Given the description of an element on the screen output the (x, y) to click on. 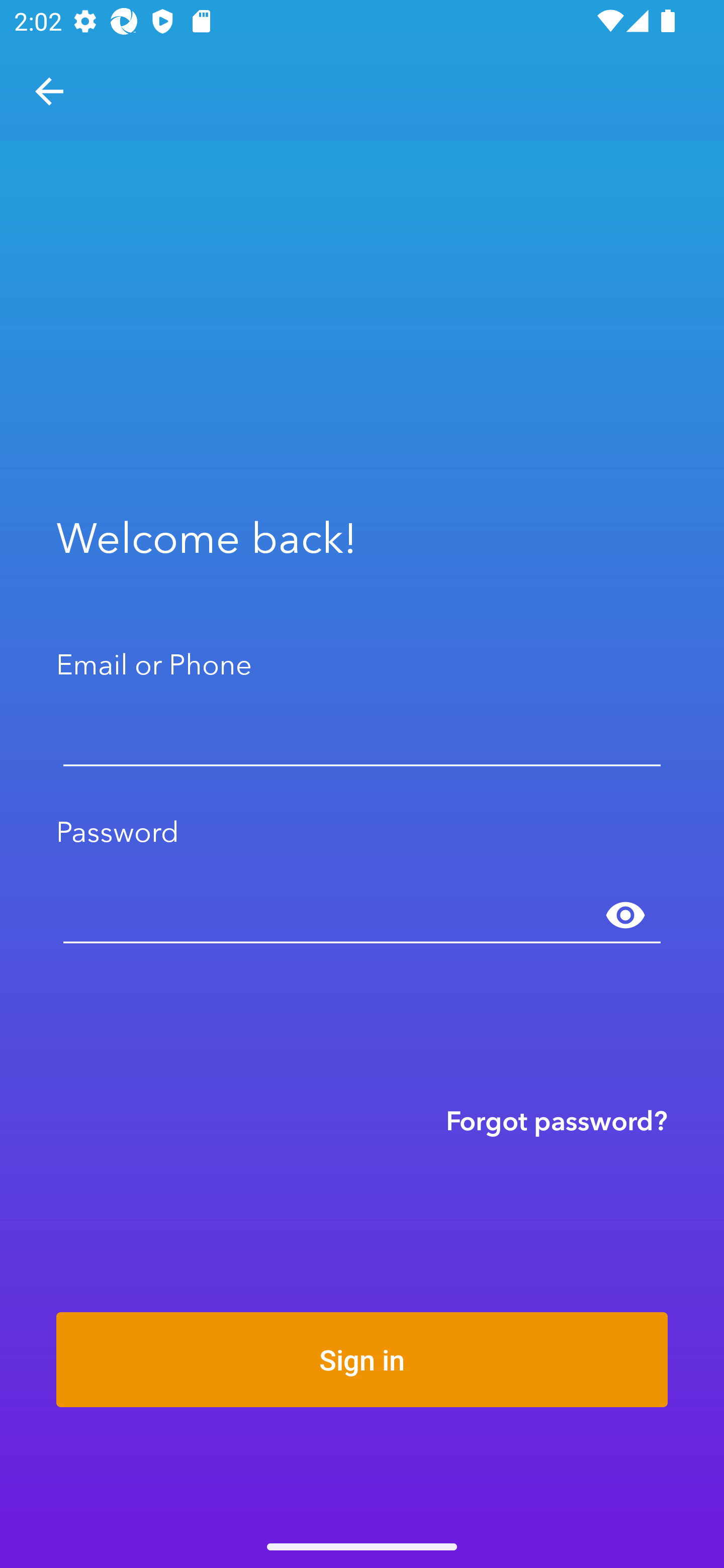
Navigate up (49, 91)
Show password (625, 915)
Forgot password? (556, 1119)
Sign in (361, 1359)
